Given the description of an element on the screen output the (x, y) to click on. 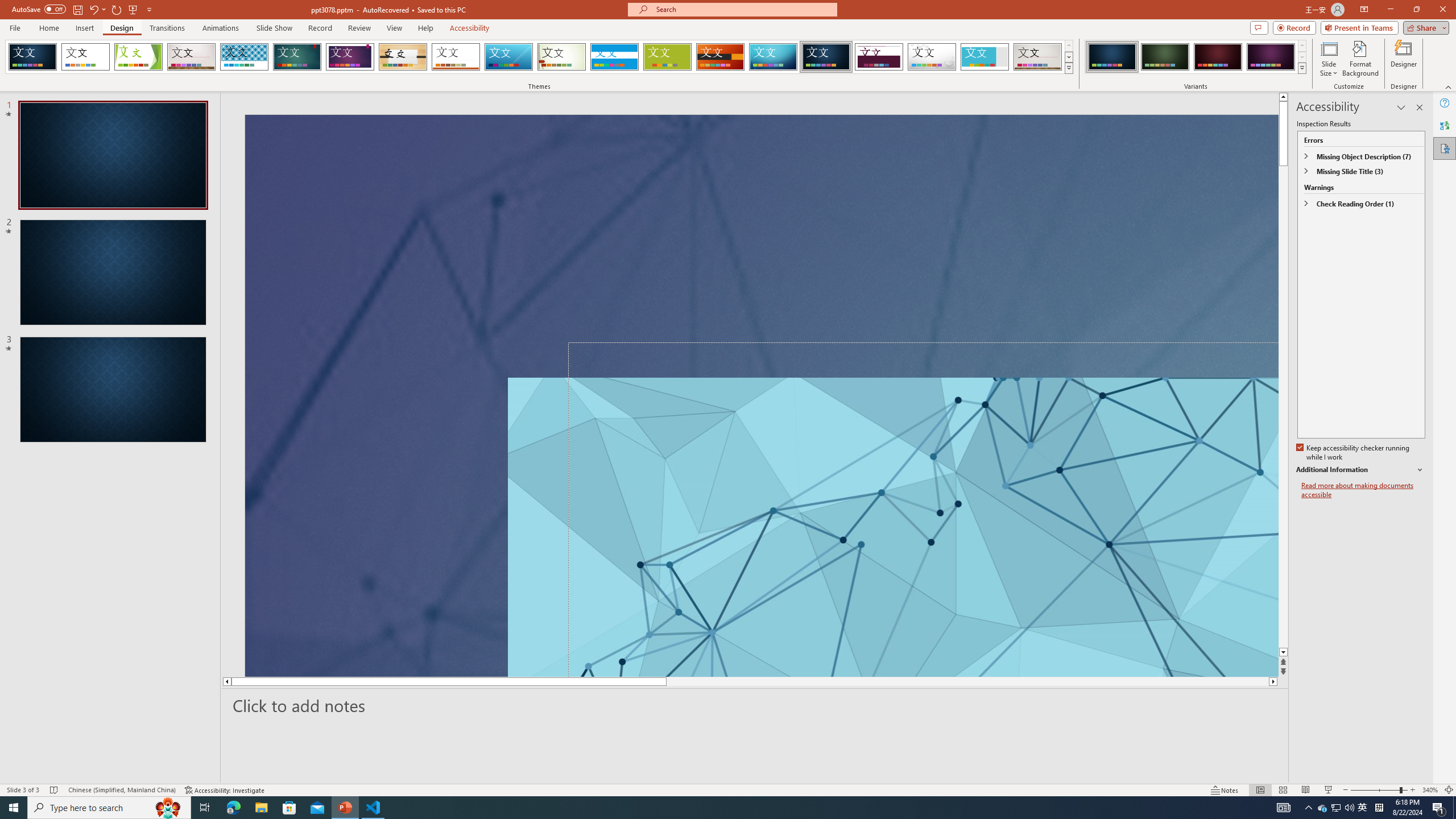
Zoom 340% (1430, 790)
Title TextBox (922, 509)
Organic (403, 56)
Slice (508, 56)
Damask (826, 56)
